Given the description of an element on the screen output the (x, y) to click on. 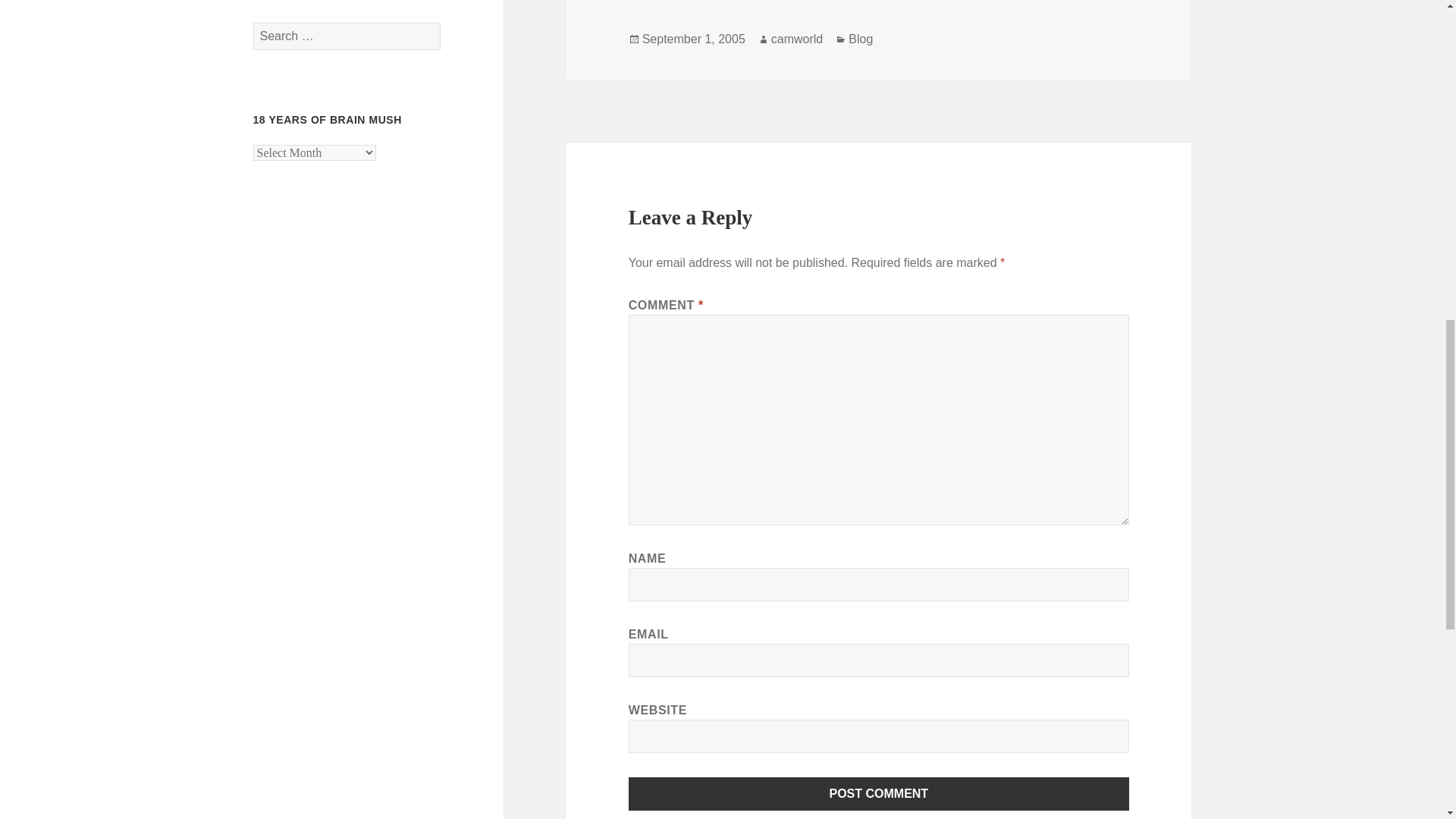
Blog (860, 38)
Post Comment (878, 793)
September 1, 2005 (693, 38)
Post Comment (878, 793)
camworld (796, 38)
